Given the description of an element on the screen output the (x, y) to click on. 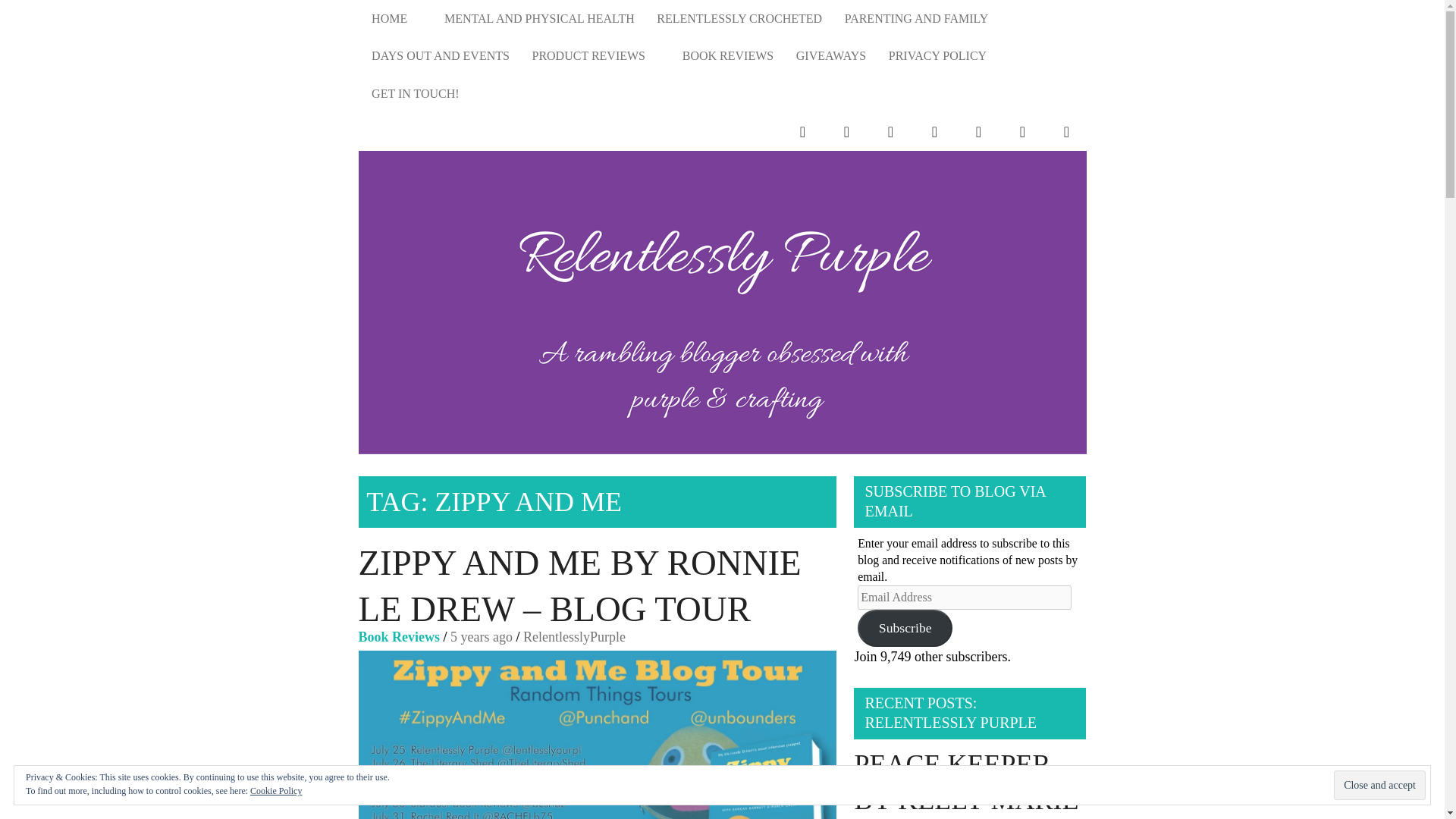
PRIVACY POLICY (937, 56)
HOME (395, 18)
RELENTLESSLY CROCHETED (739, 18)
Close and accept (1379, 785)
GET IN TOUCH! (414, 94)
PRODUCT REVIEWS (595, 56)
PARENTING AND FAMILY (915, 18)
Book Reviews (398, 636)
GIVEAWAYS (831, 56)
RELENTLESSLY PURPLE (1031, 337)
